Given the description of an element on the screen output the (x, y) to click on. 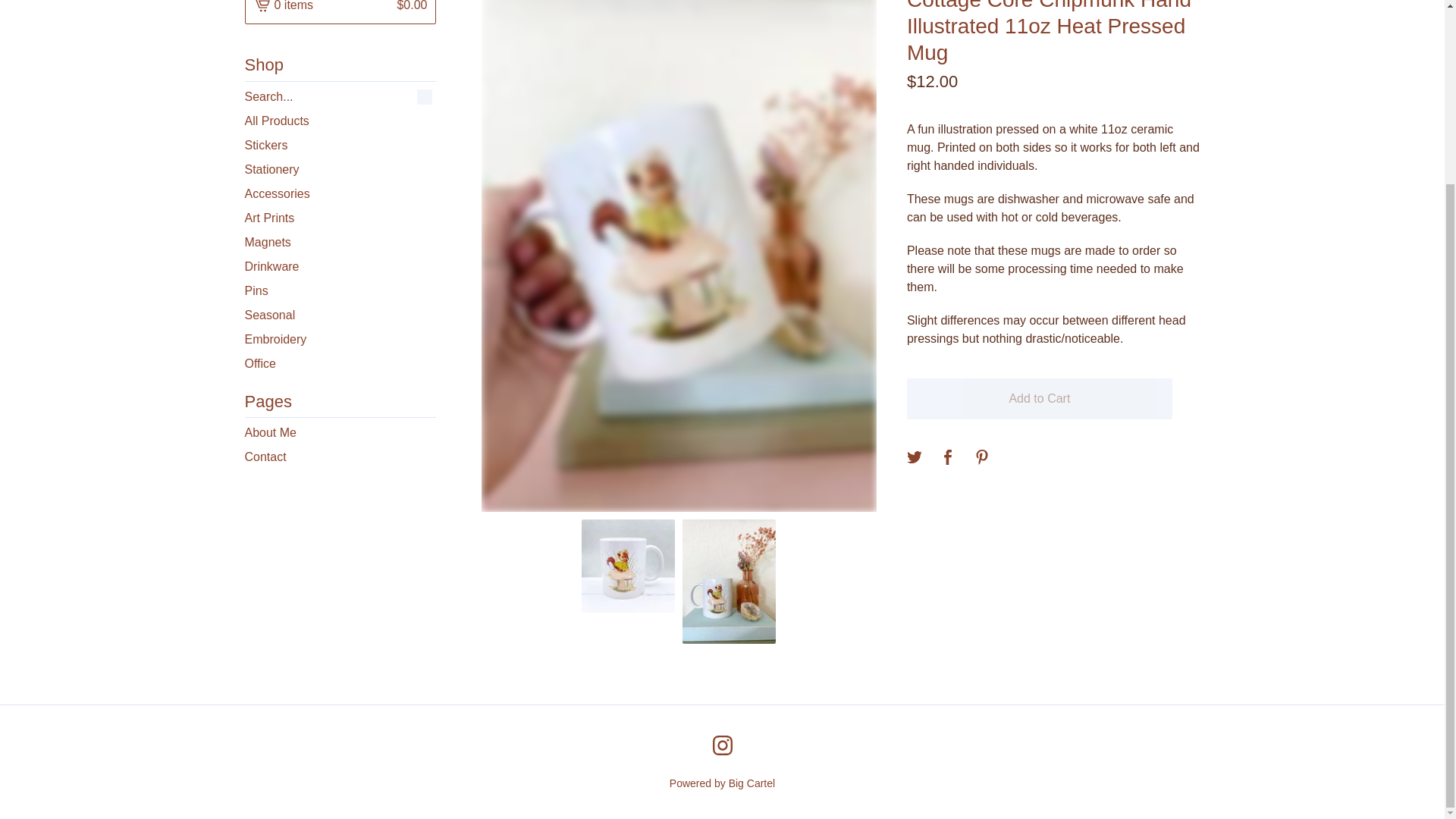
View Stickers (339, 145)
View Pins (339, 291)
All Products (339, 120)
View Drinkware (339, 266)
Seasonal (339, 315)
View Seasonal (339, 315)
View Cart (339, 12)
Drinkware (339, 266)
View Embroidery (339, 339)
View Contact (339, 457)
View Accessories (339, 193)
View Office (339, 363)
Magnets (339, 242)
Office (339, 363)
View About Me (339, 432)
